Given the description of an element on the screen output the (x, y) to click on. 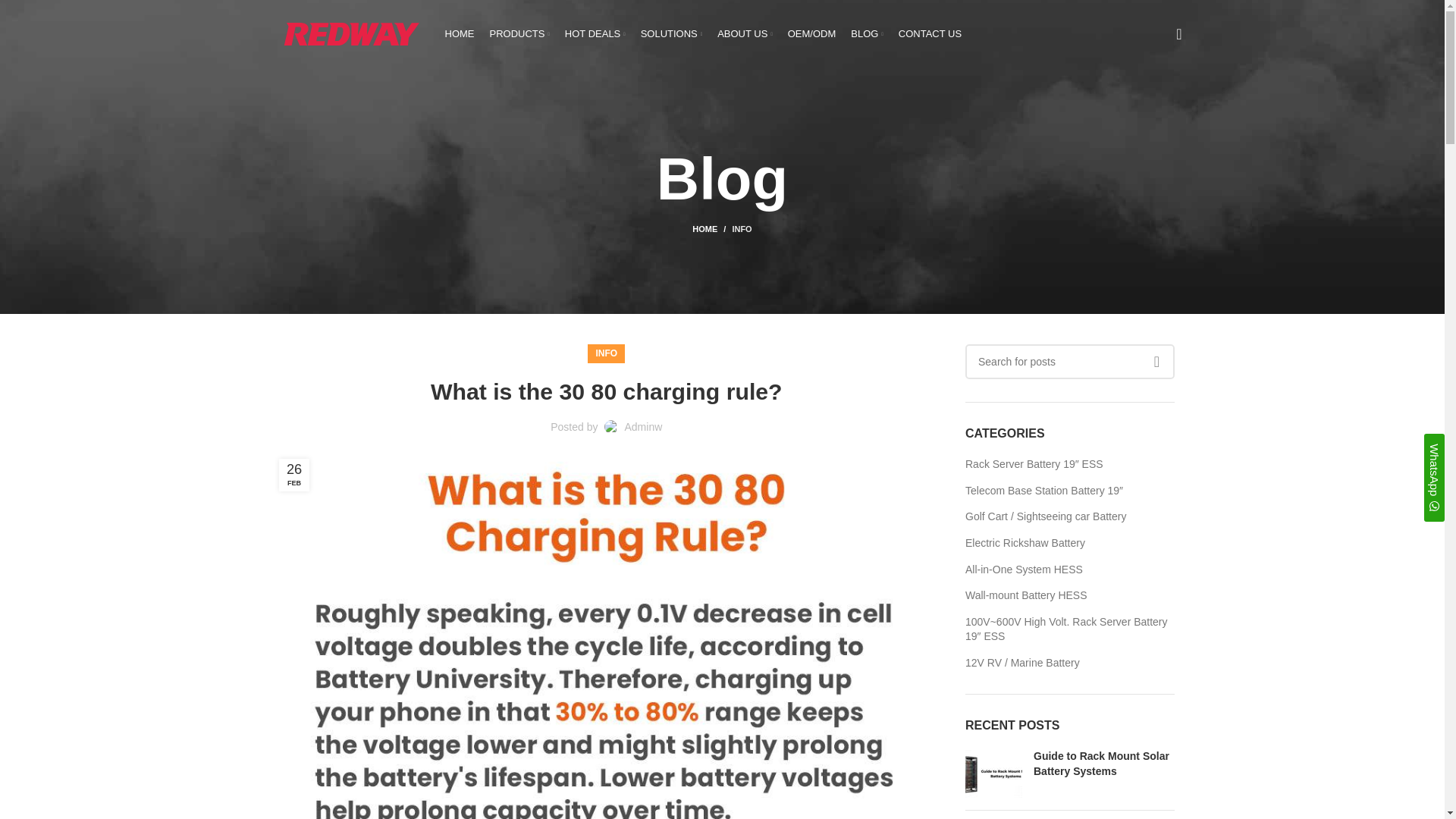
Search for posts (1069, 361)
HOME (459, 33)
Permalink to Guide to Rack Mount Solar Battery Systems (1101, 763)
PRODUCTS (519, 33)
